Given the description of an element on the screen output the (x, y) to click on. 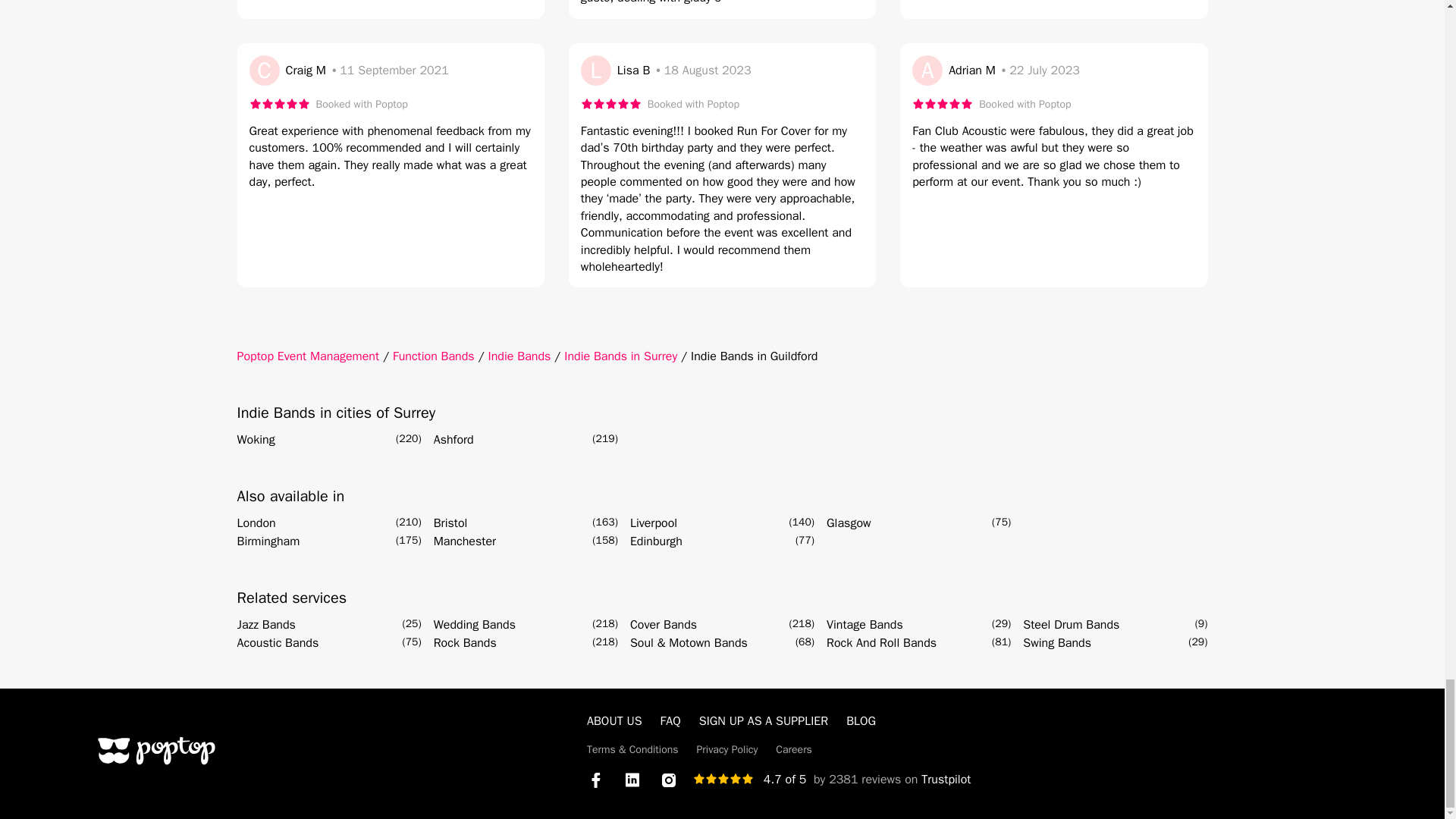
Manchester (464, 541)
London (255, 523)
Birmingham (267, 541)
Jazz Bands (265, 624)
Edinburgh (656, 541)
Poptop Event Management (306, 355)
Wedding Bands (474, 624)
Liverpool (653, 523)
Woking (255, 439)
Function Bands (433, 355)
Acoustic Bands (276, 642)
Indie Bands in Surrey (620, 355)
Ashford (453, 439)
Indie Bands (519, 355)
Bristol (450, 523)
